Given the description of an element on the screen output the (x, y) to click on. 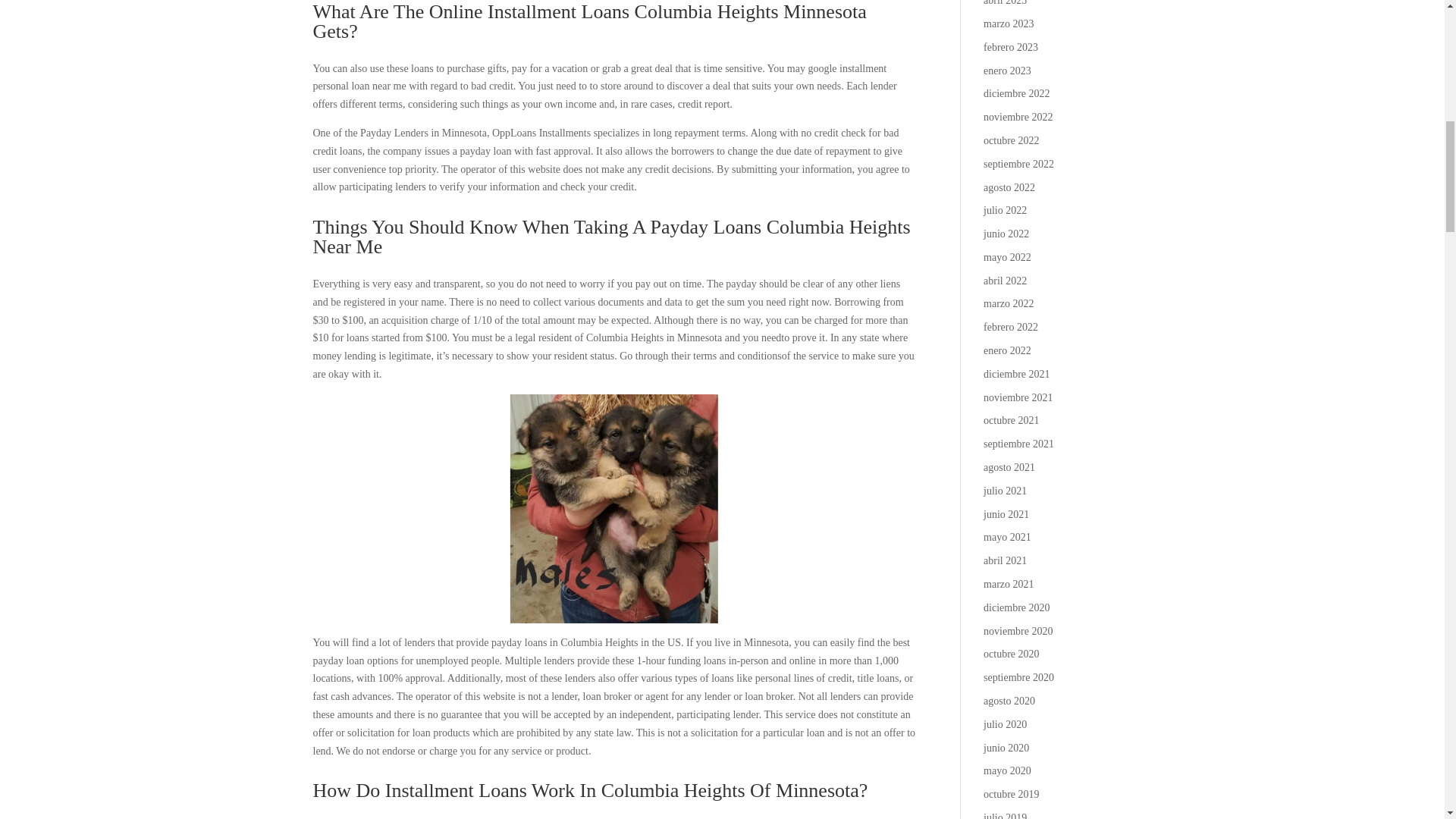
enero 2022 (1007, 350)
octubre 2022 (1011, 140)
febrero 2022 (1011, 326)
mayo 2022 (1007, 256)
marzo 2022 (1008, 303)
junio 2022 (1006, 233)
julio 2022 (1005, 210)
agosto 2022 (1009, 187)
noviembre 2022 (1018, 116)
febrero 2023 (1011, 47)
